Given the description of an element on the screen output the (x, y) to click on. 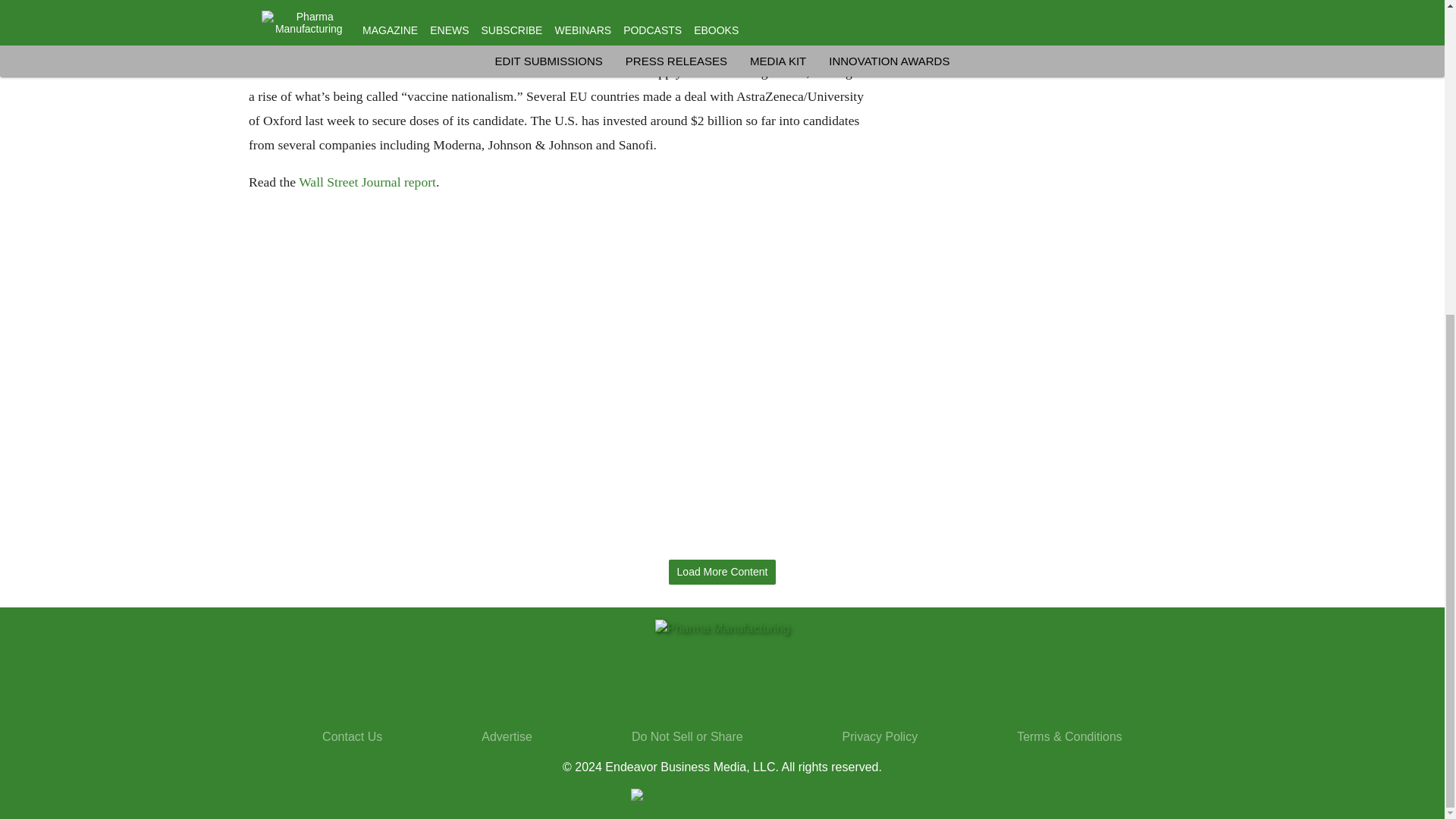
Advertise (506, 736)
Privacy Policy (880, 736)
Do Not Sell or Share (686, 736)
Contact Us (351, 736)
Wall Street Journal report (366, 181)
Load More Content (722, 571)
